Given the description of an element on the screen output the (x, y) to click on. 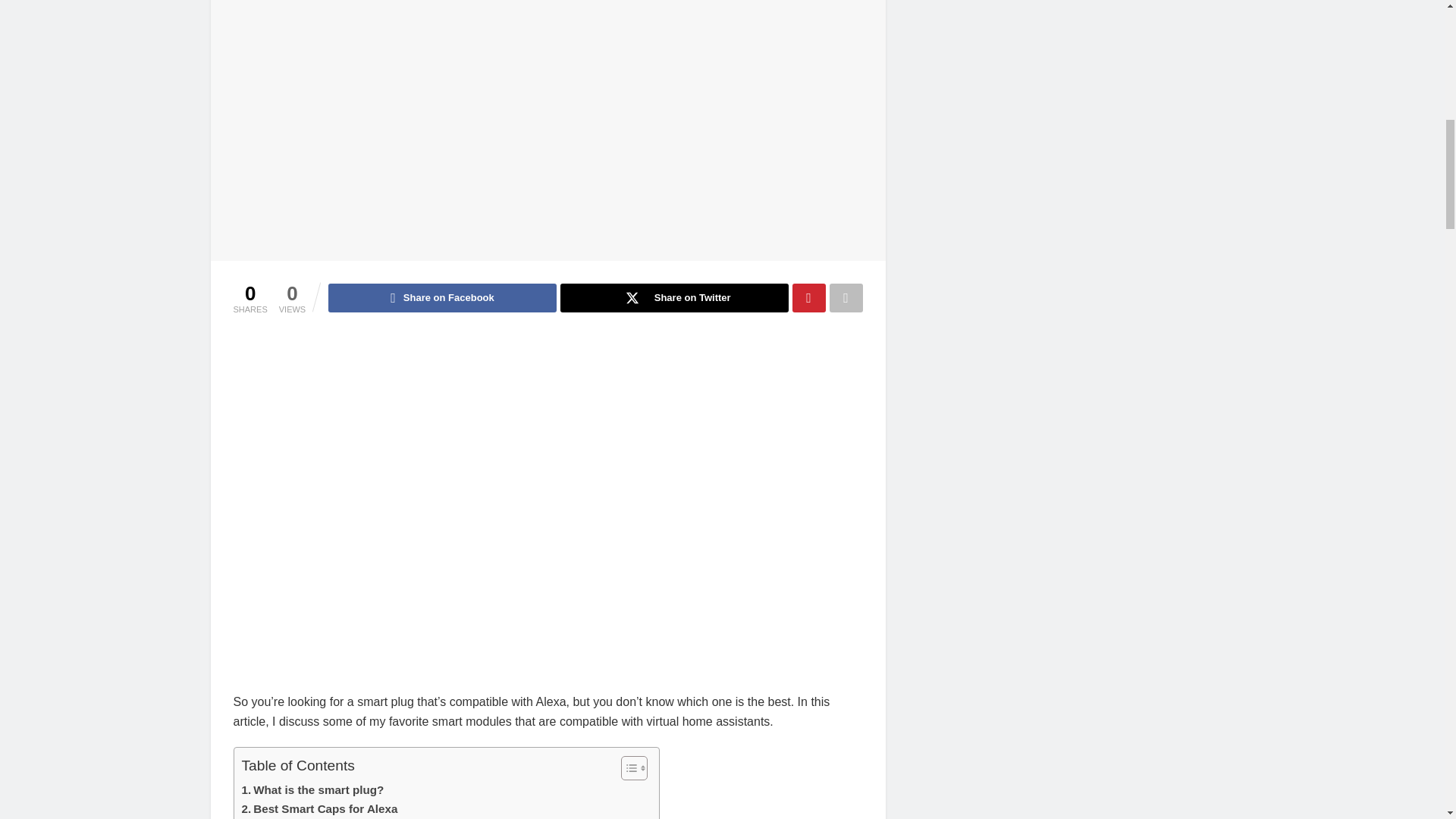
What is the smart plug? (312, 790)
Best Smart Caps for Alexa (319, 809)
